Given the description of an element on the screen output the (x, y) to click on. 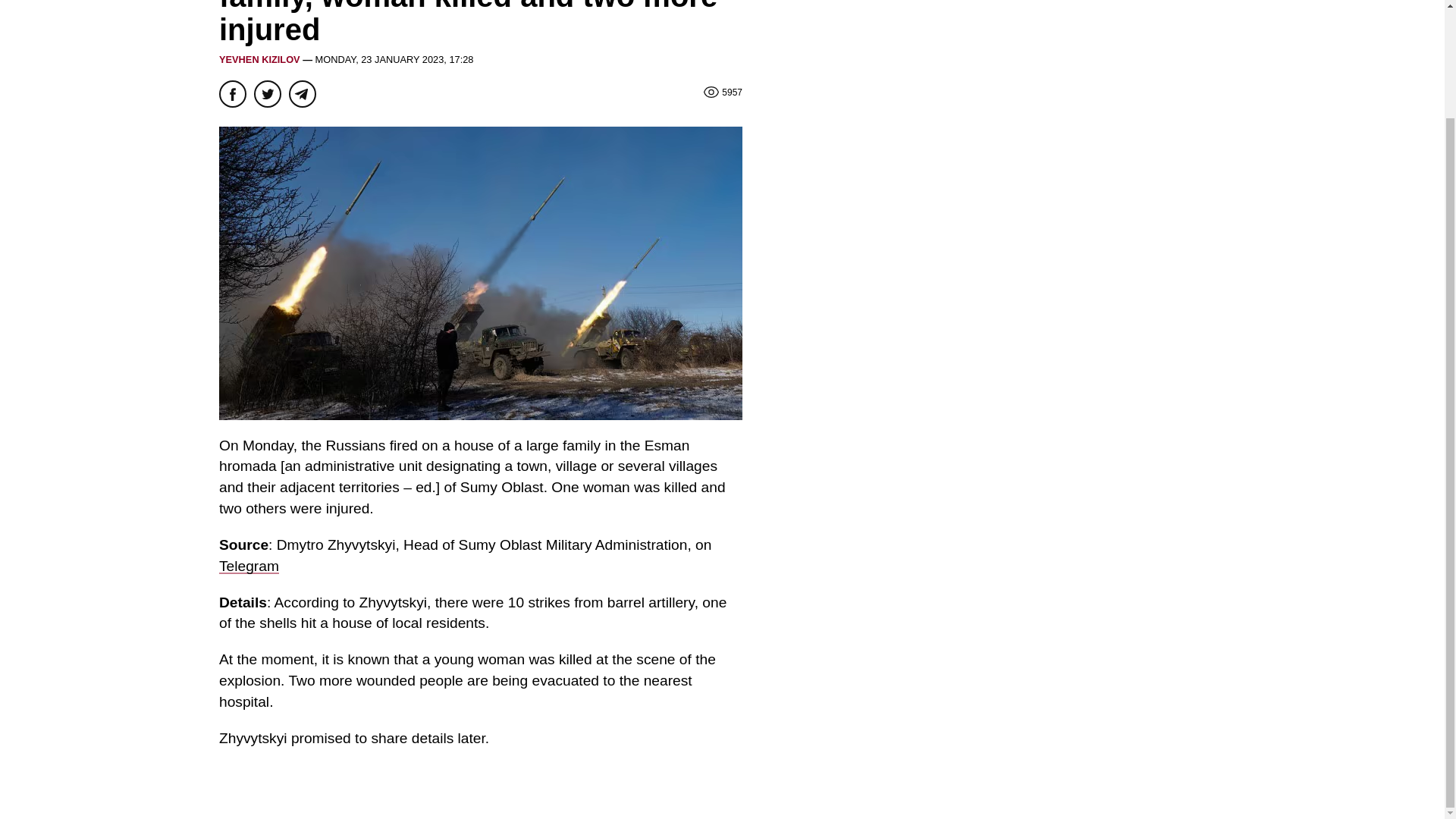
Telegram (249, 565)
YEVHEN KIZILOV (259, 59)
